Given the description of an element on the screen output the (x, y) to click on. 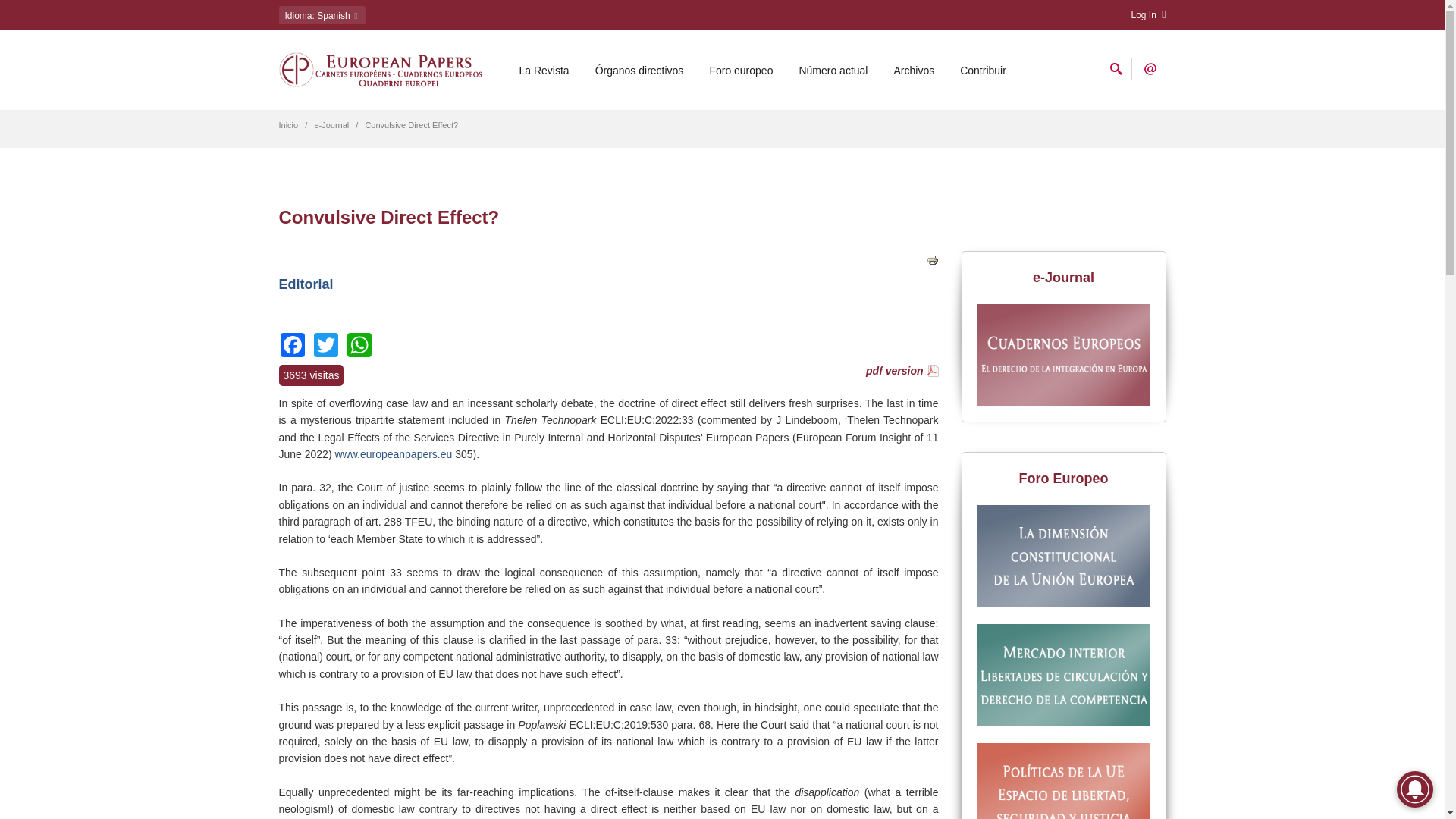
Log In (1148, 15)
Idioma: Spanish (322, 14)
Foro europeo (740, 70)
Printer-friendly version (932, 259)
La Revista (543, 70)
